Given the description of an element on the screen output the (x, y) to click on. 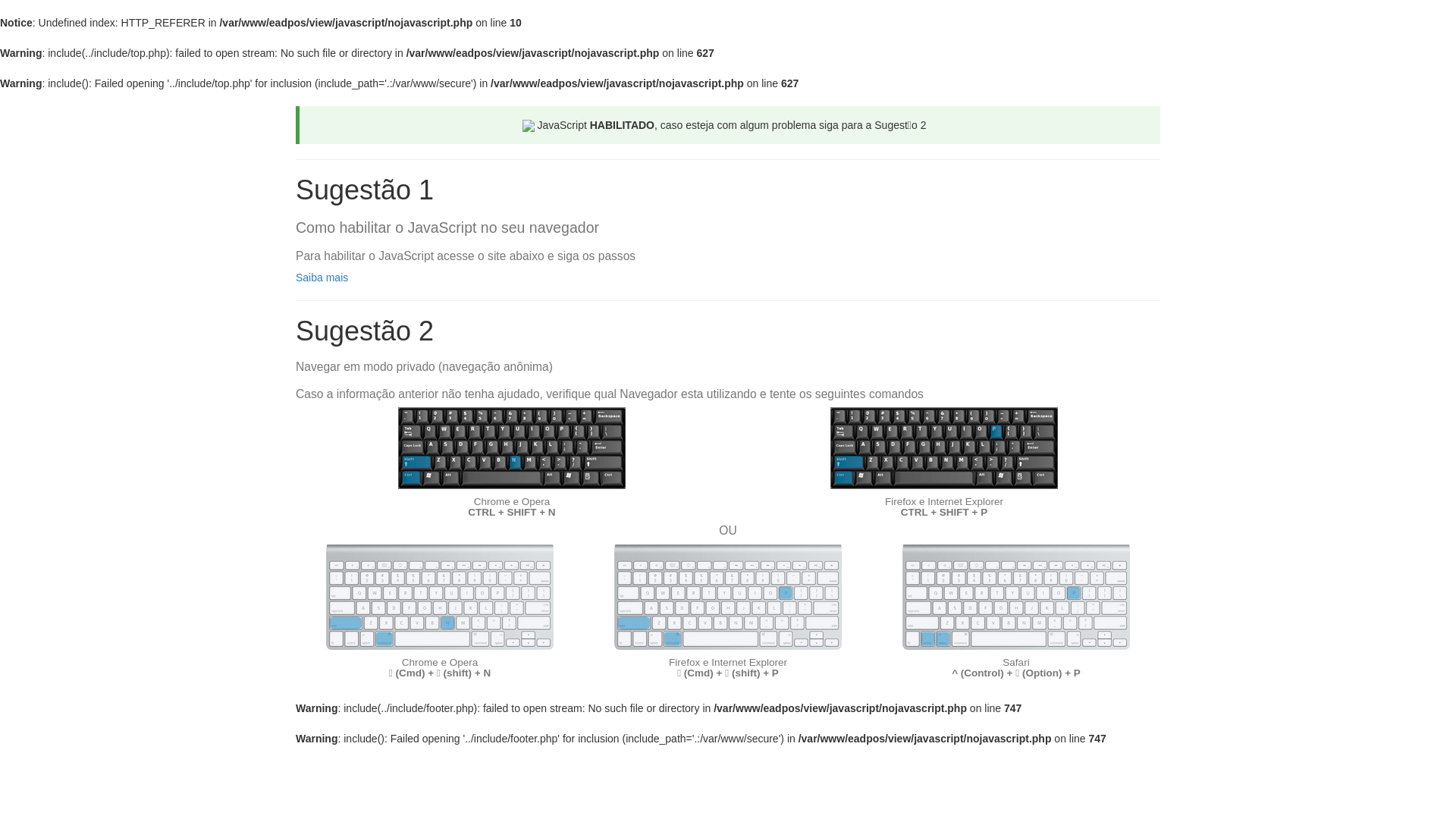
Saiba mais Element type: text (321, 277)
